Given the description of an element on the screen output the (x, y) to click on. 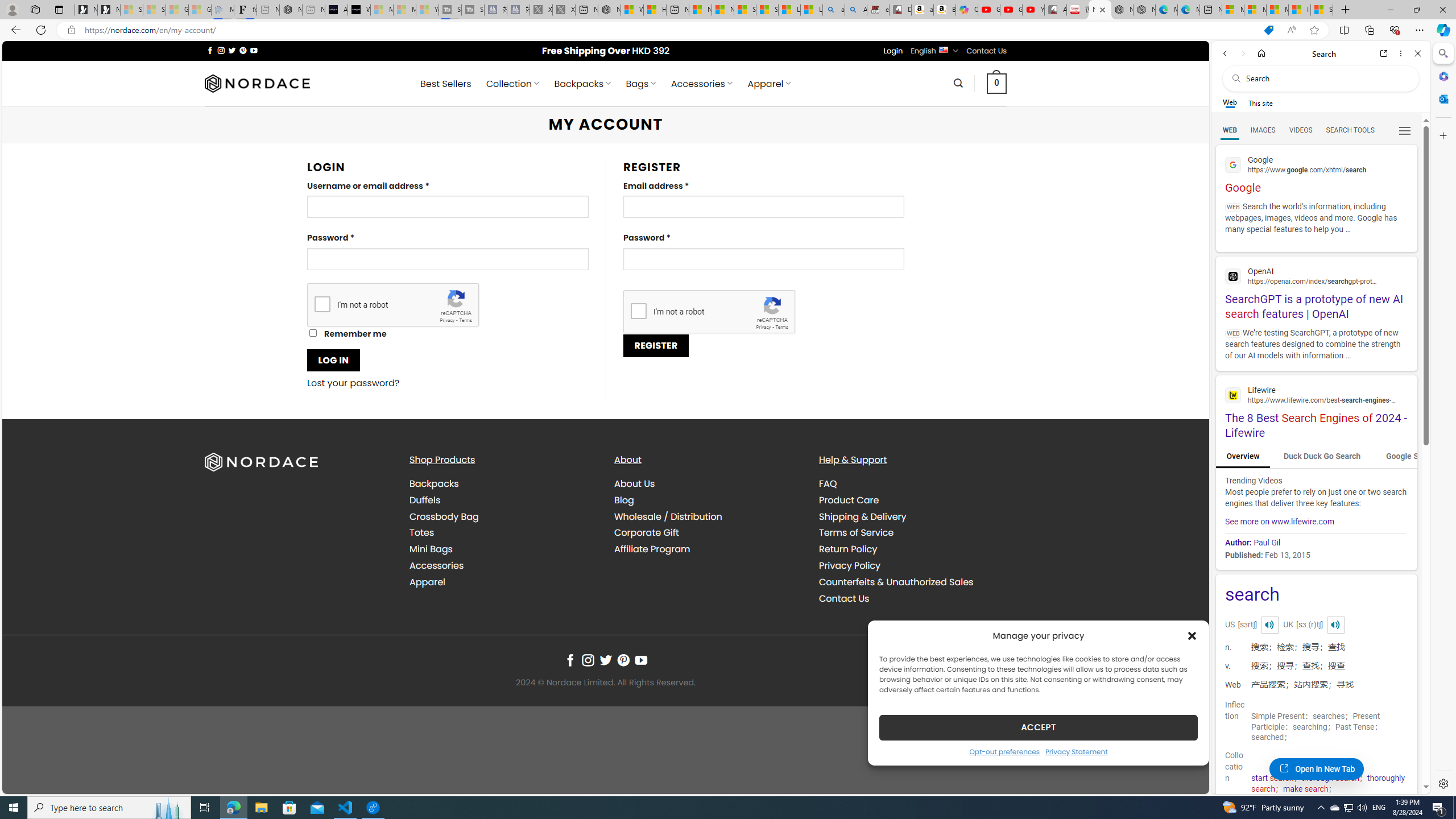
FAQ (912, 483)
Accessories (502, 565)
Class: dict_pnIcon rms_img (1335, 624)
Lost your password? (353, 382)
Accessories (436, 565)
Terms of Service (912, 532)
Duffels (502, 499)
LOG IN (333, 359)
Google Search (1412, 456)
